Given the description of an element on the screen output the (x, y) to click on. 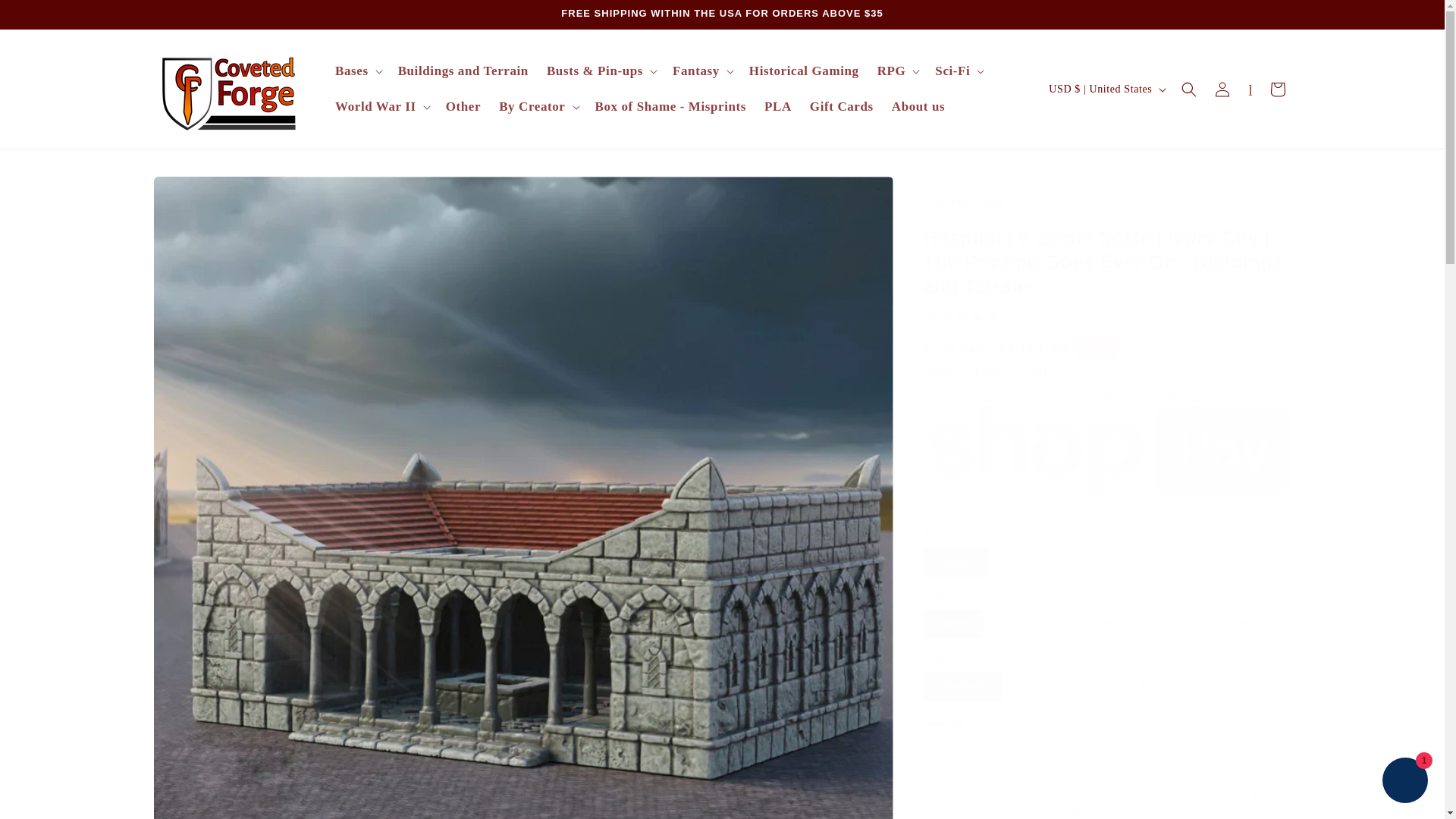
Skip to content (47, 18)
Shopify online store chat (1404, 781)
1 (976, 752)
